Given the description of an element on the screen output the (x, y) to click on. 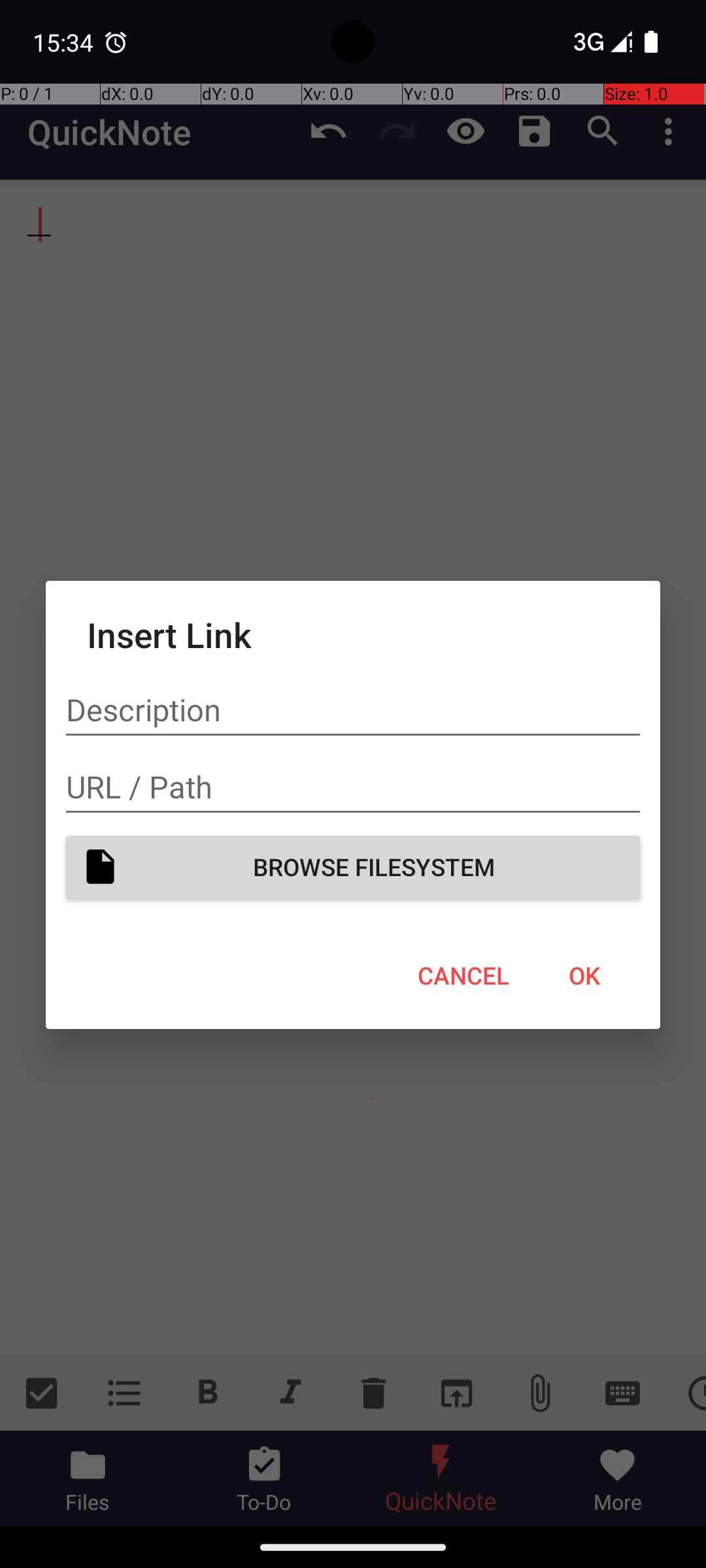
URL / Path Element type: android.widget.EditText (352, 786)
